Given the description of an element on the screen output the (x, y) to click on. 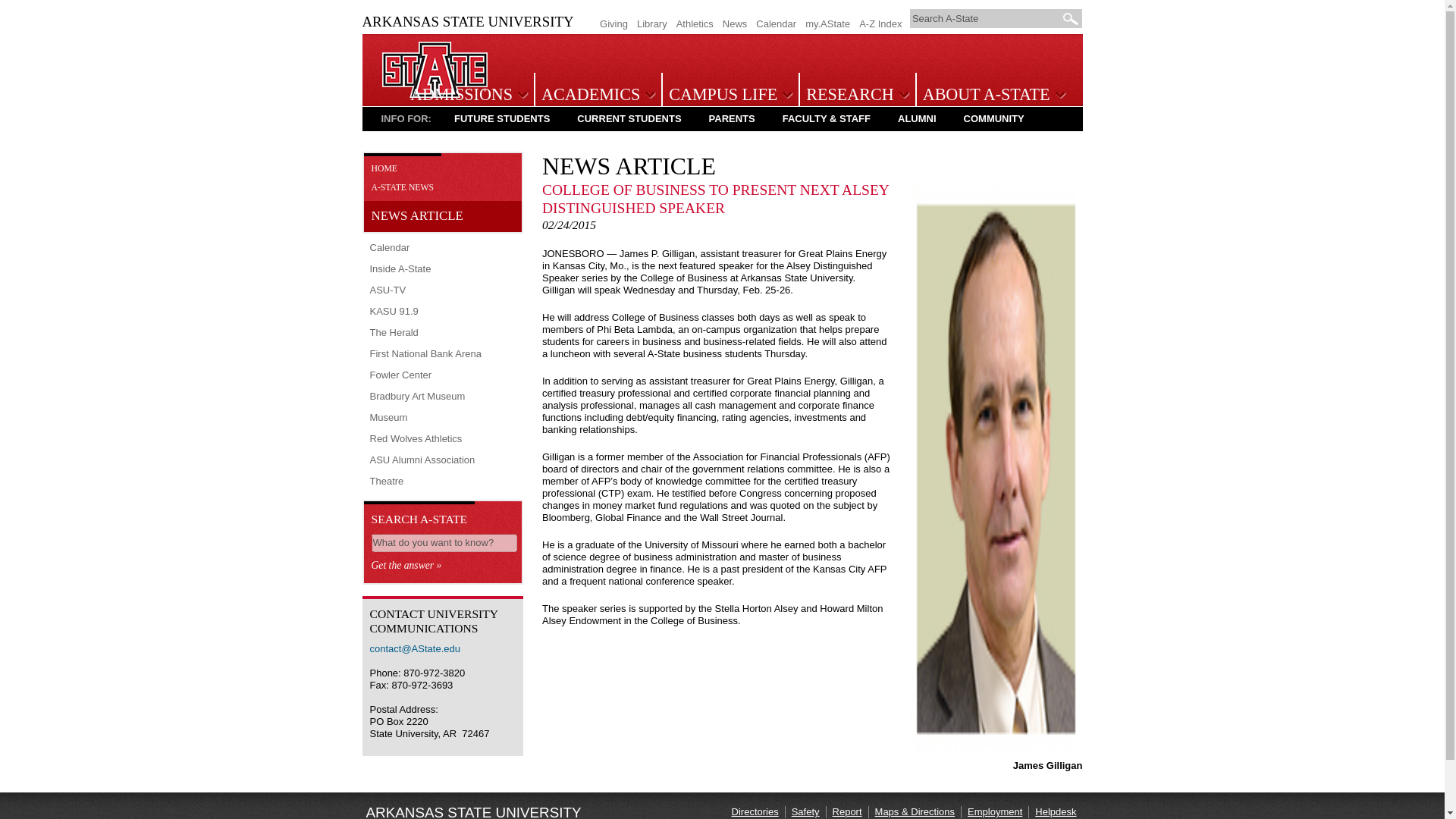
Arkansas State University (434, 93)
Search A-State (985, 18)
Go (1070, 18)
ACADEMICS (595, 95)
ADMISSIONS (466, 95)
What do you want to know? (444, 542)
CAMPUS LIFE (727, 95)
